Given the description of an element on the screen output the (x, y) to click on. 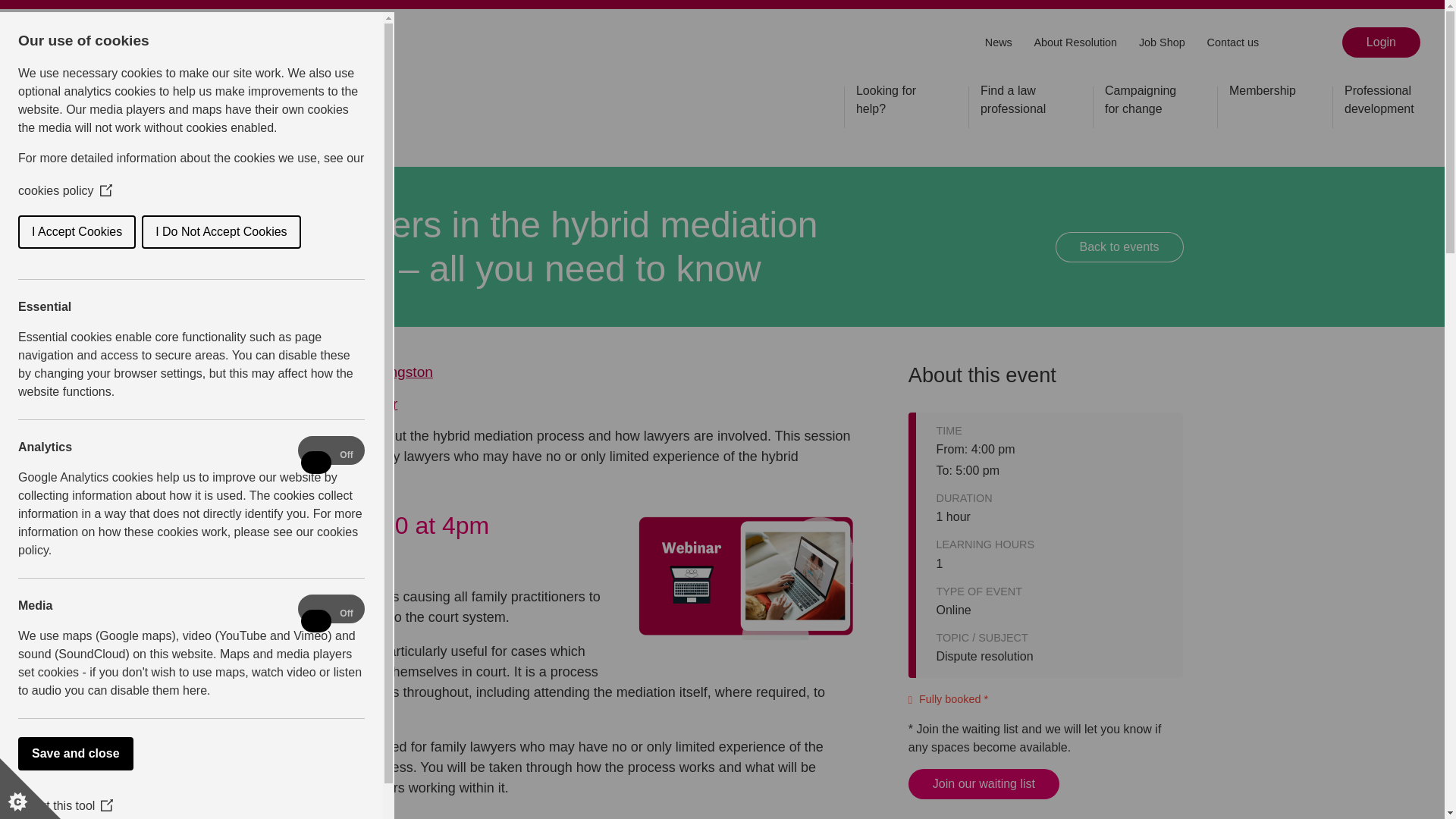
Job Shop (1161, 41)
Search (1311, 43)
Campaigning for change (1142, 102)
I Do Not Accept Cookies (50, 231)
Find a law professional (1018, 102)
Membership (1261, 93)
Contact us (1233, 41)
Looking for help? (893, 102)
Professional development (1382, 102)
About Resolution (1075, 41)
